Given the description of an element on the screen output the (x, y) to click on. 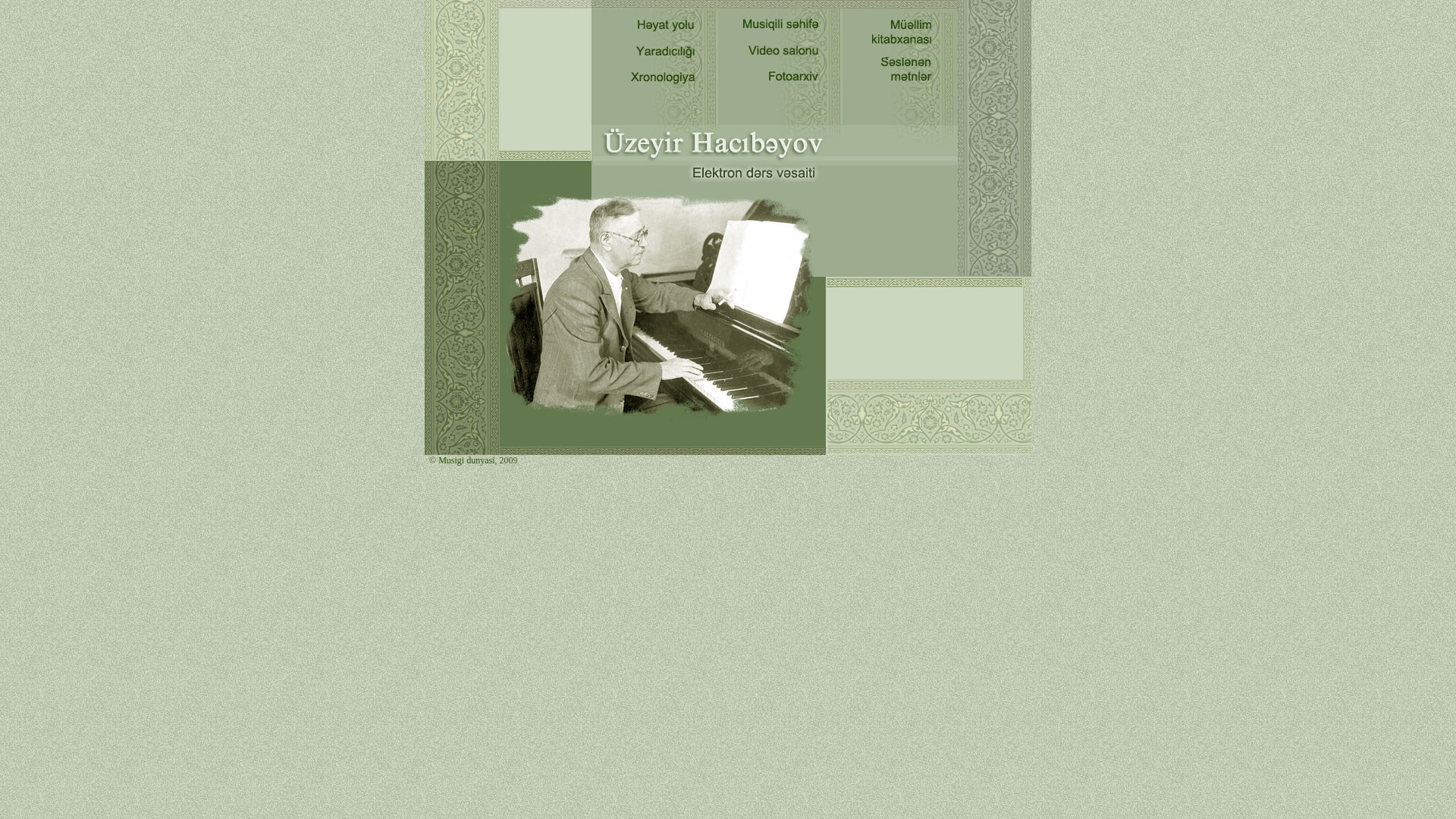
Musigi dunyasi Element type: text (465, 460)
